Given the description of an element on the screen output the (x, y) to click on. 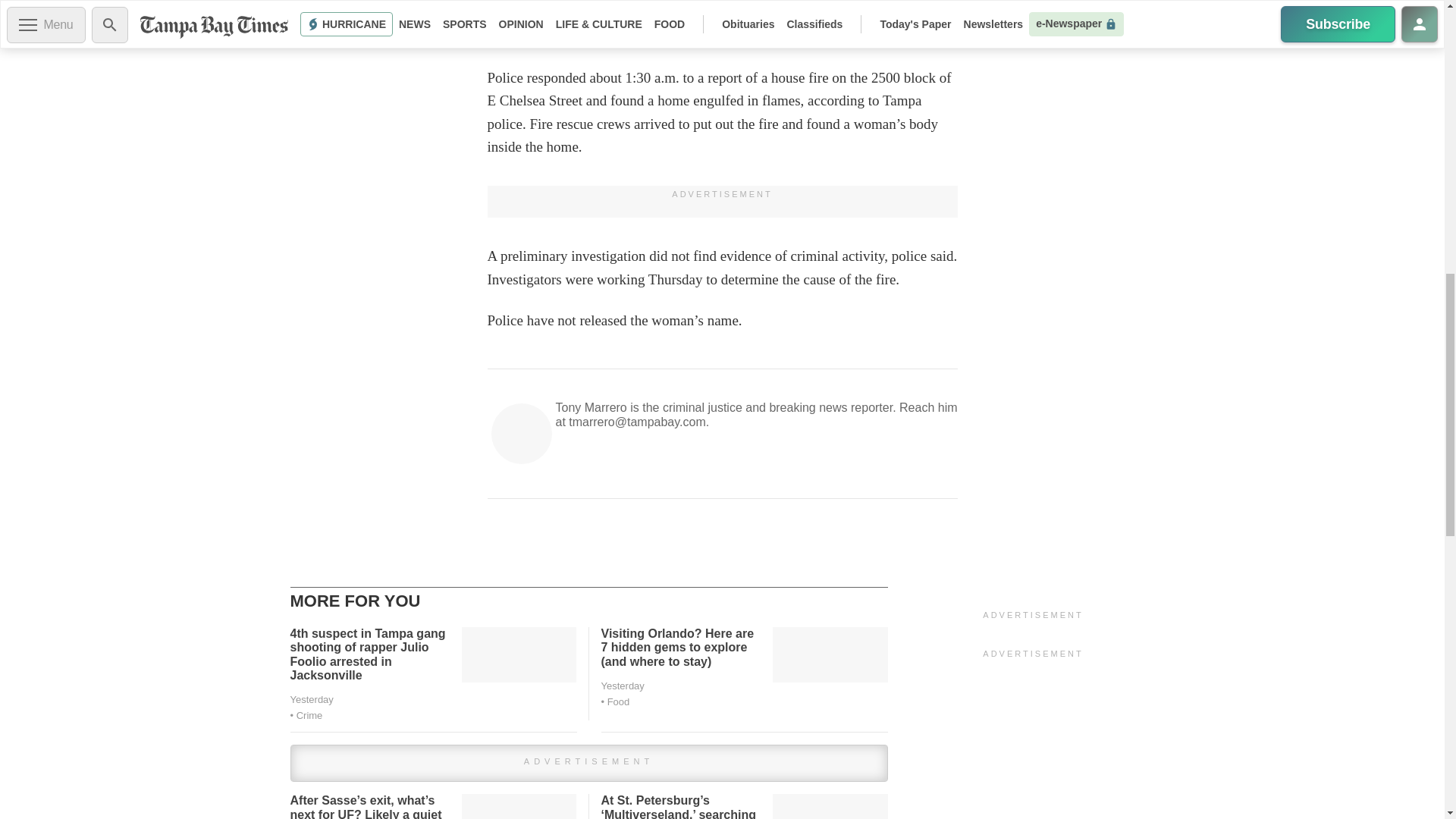
2024-07-30T15:00:00Z (621, 685)
2024-07-30T16:23:57.870Z (311, 699)
